Given the description of an element on the screen output the (x, y) to click on. 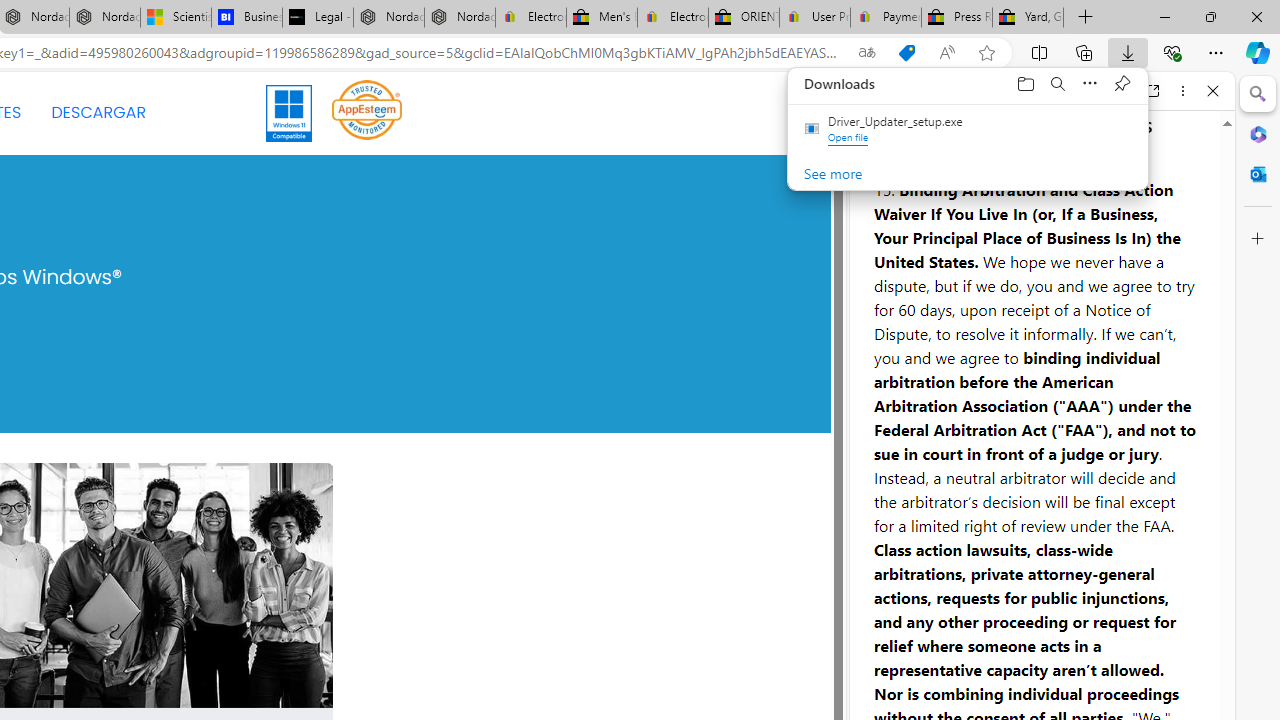
Payments Terms of Use | eBay.com (886, 17)
Show translate options (867, 53)
User Privacy Notice | eBay (814, 17)
